Given the description of an element on the screen output the (x, y) to click on. 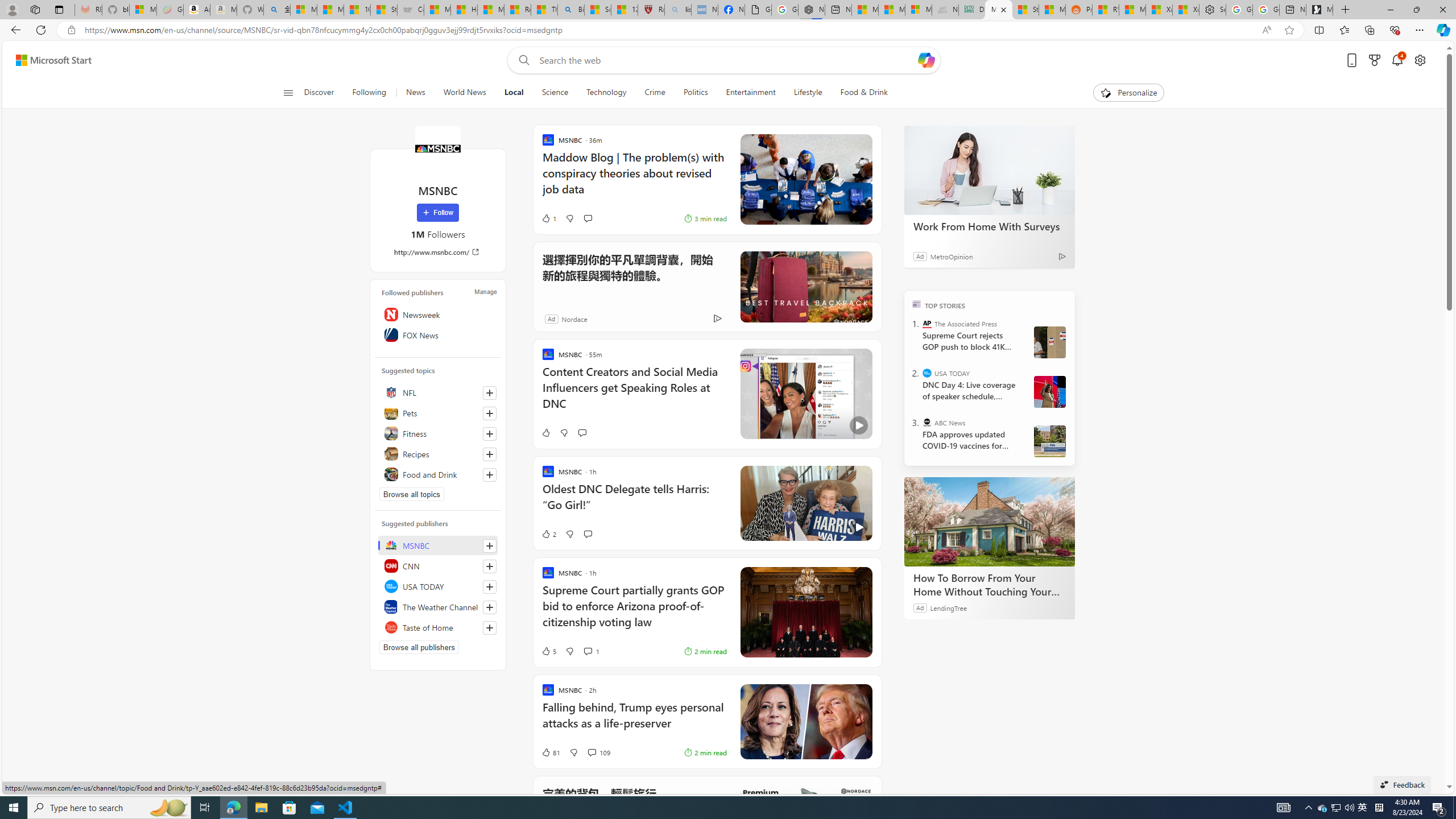
View comments 1 Comment (587, 651)
MSNBC (437, 148)
MSNBC (437, 545)
